Given the description of an element on the screen output the (x, y) to click on. 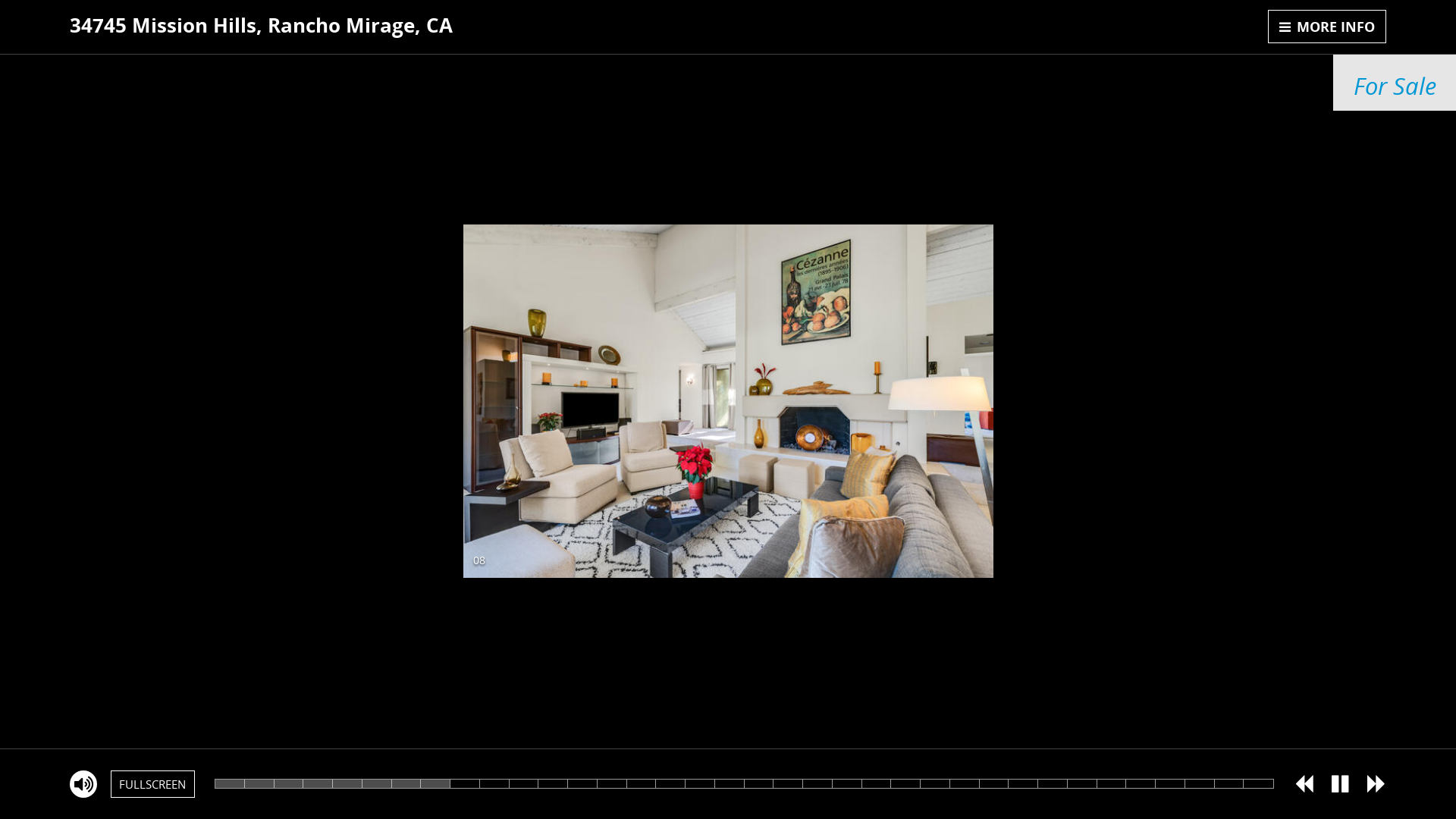
MORE INFO Element type: text (1326, 26)
